Given the description of an element on the screen output the (x, y) to click on. 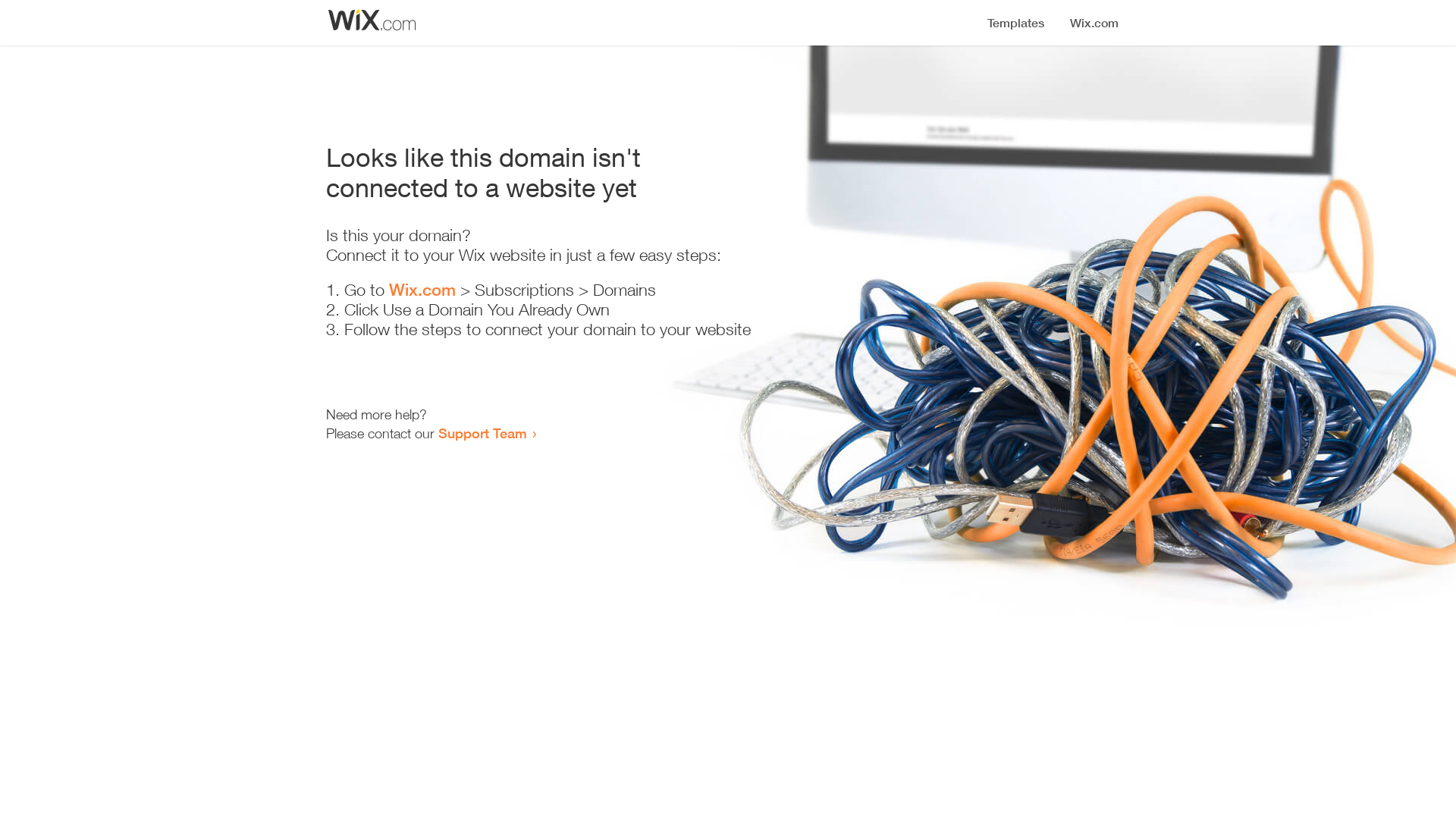
Support Team Element type: text (482, 432)
Wix.com Element type: text (422, 289)
